Given the description of an element on the screen output the (x, y) to click on. 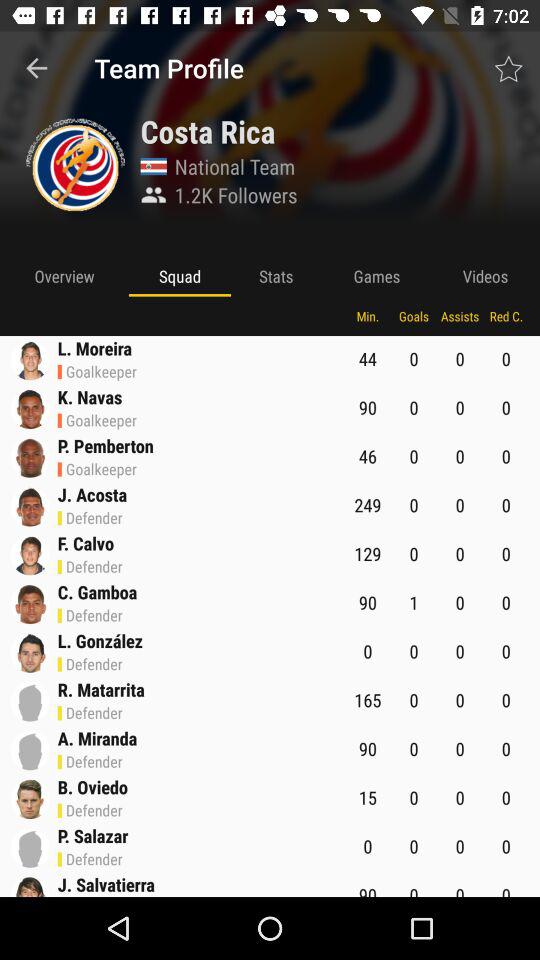
tap app to the left of stats item (179, 276)
